Given the description of an element on the screen output the (x, y) to click on. 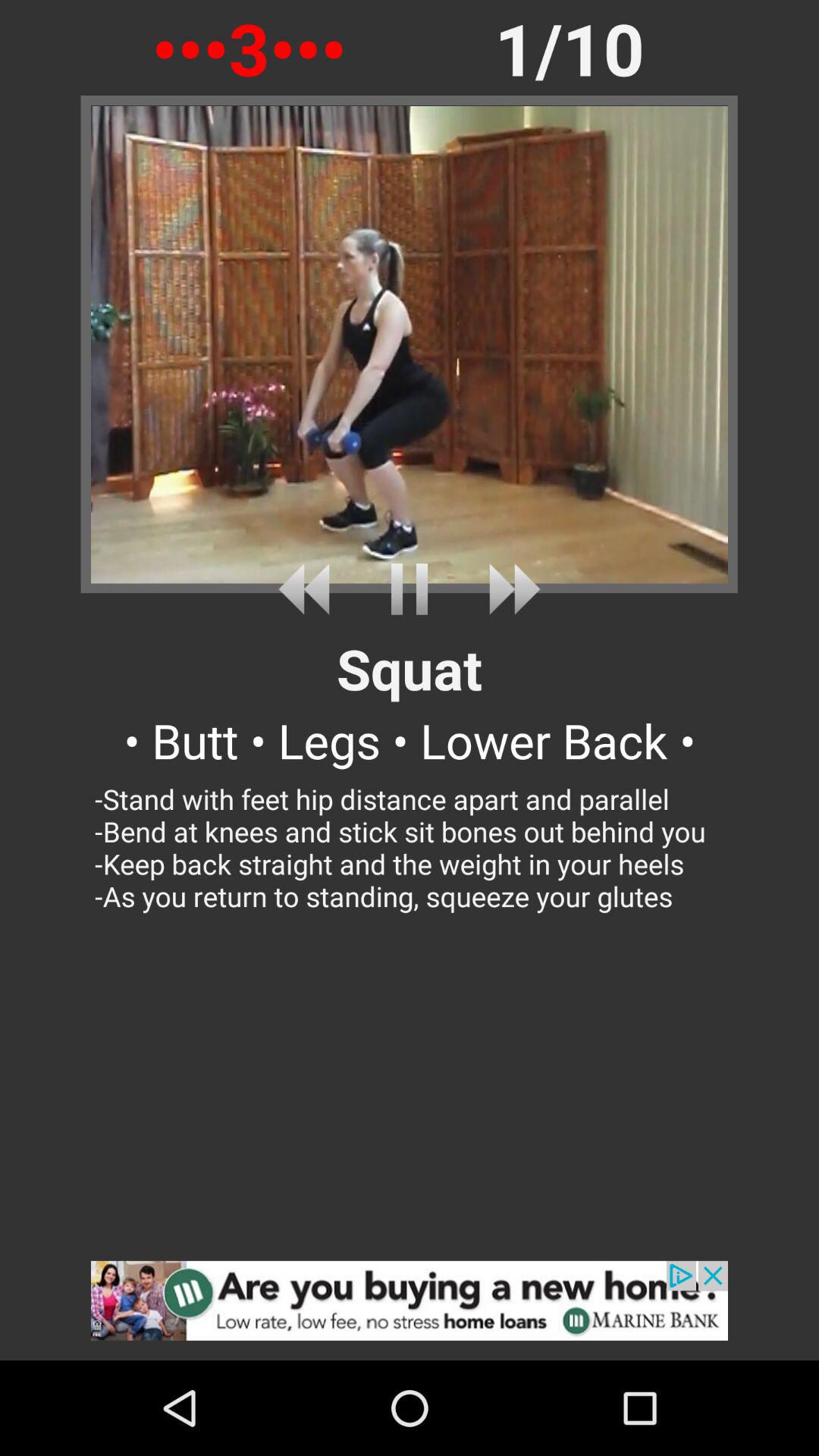
pause video (409, 589)
